Given the description of an element on the screen output the (x, y) to click on. 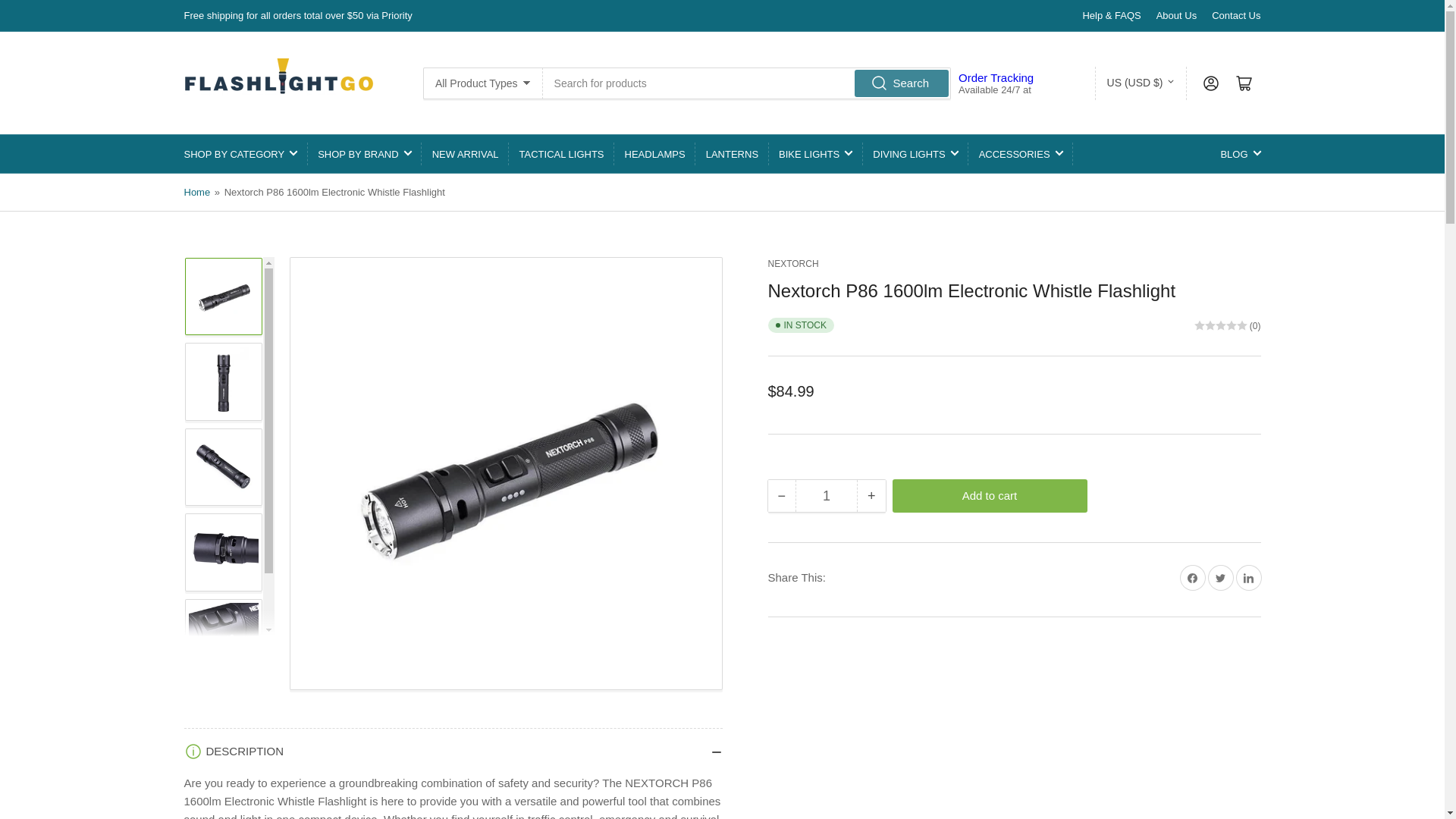
Order Tracking (995, 77)
1 (825, 495)
Contact Us (1235, 15)
About Us (1176, 15)
Order Tracking (995, 77)
Search (901, 82)
